Given the description of an element on the screen output the (x, y) to click on. 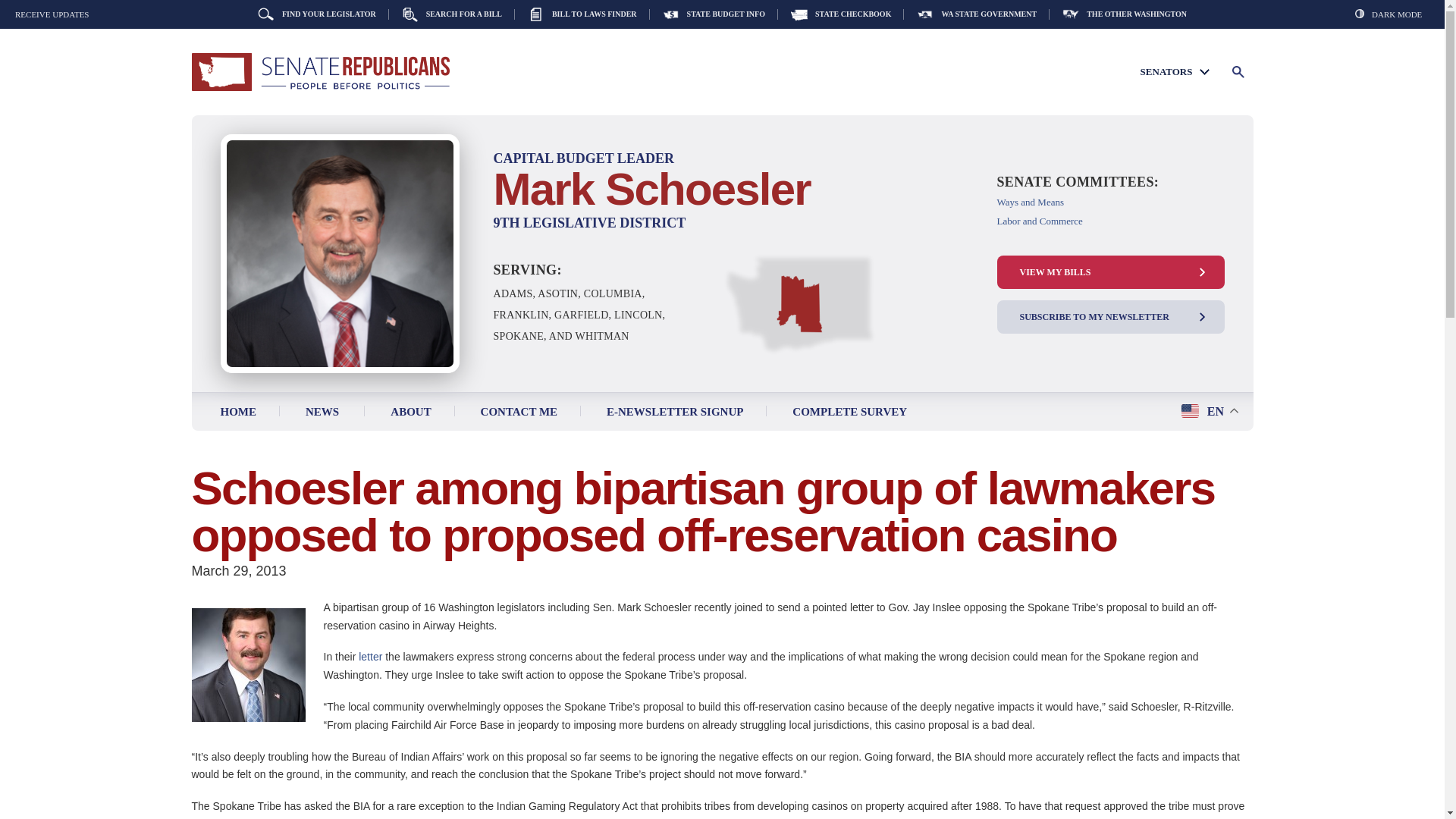
RECEIVE UPDATES (51, 14)
FIND YOUR LEGISLATOR (322, 14)
BILL TO LAWS FINDER (582, 14)
Legislators' letter to Gov. Inslee (371, 656)
STATE BUDGET INFO (713, 14)
Skip to content (226, 402)
SEARCH FOR A BILL (451, 14)
Senate Republican Caucus (319, 72)
